Given the description of an element on the screen output the (x, y) to click on. 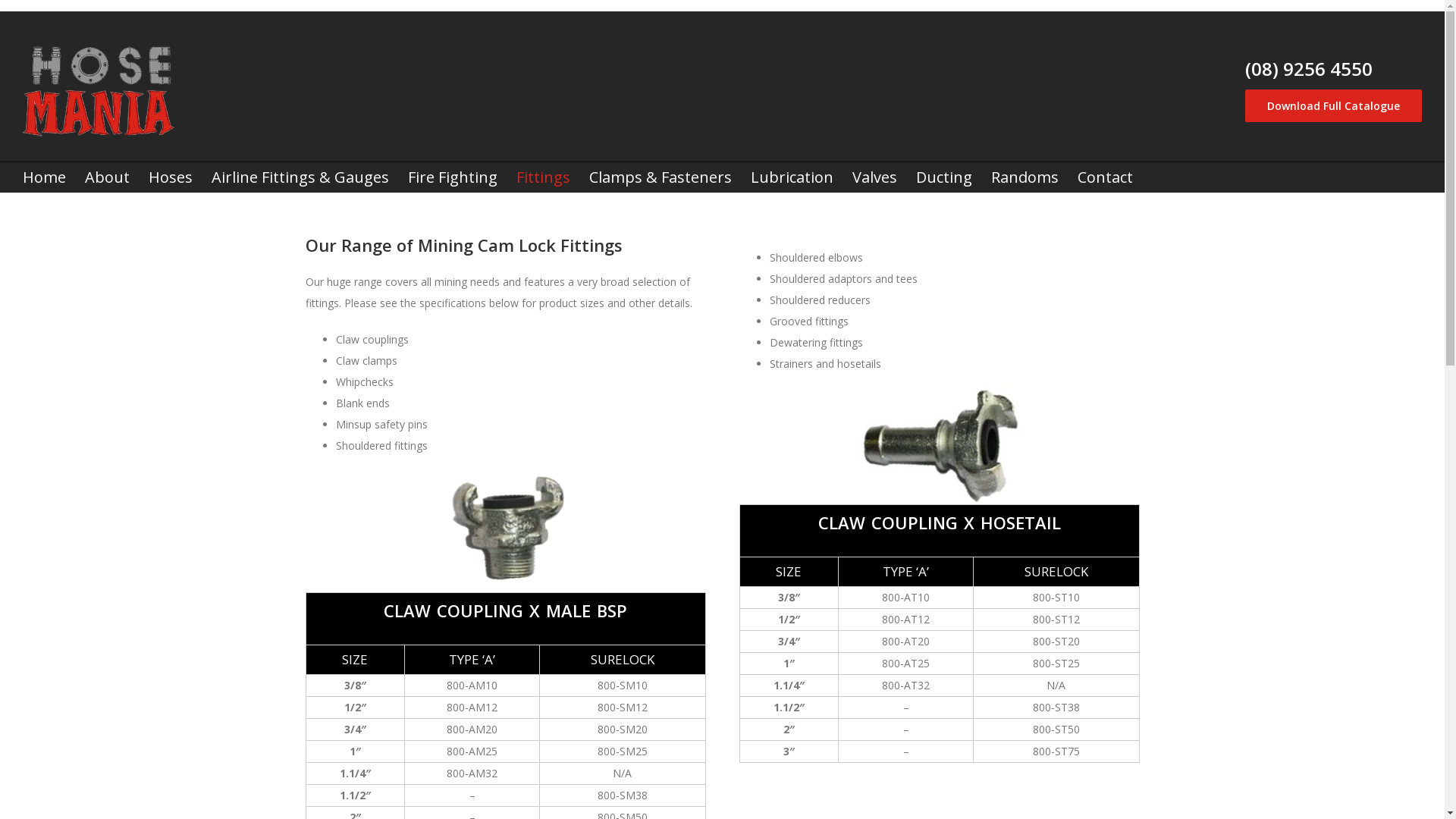
(08) 9256 4550 Element type: text (1308, 68)
Ducting Element type: text (944, 177)
Lubrication Element type: text (791, 177)
Home Element type: text (43, 177)
Clamps & Fasteners Element type: text (660, 177)
About Element type: text (106, 177)
Download Full Catalogue Element type: text (1333, 105)
Fire Fighting Element type: text (452, 177)
Hoses Element type: text (170, 177)
claw-coupling-male-bsp Element type: hover (505, 529)
Airline Fittings & Gauges Element type: text (300, 177)
Valves Element type: text (874, 177)
Randoms Element type: text (1024, 177)
Fittings Element type: text (543, 177)
Contact Element type: text (1104, 177)
claw-coupling-hosetail Element type: hover (939, 444)
